Given the description of an element on the screen output the (x, y) to click on. 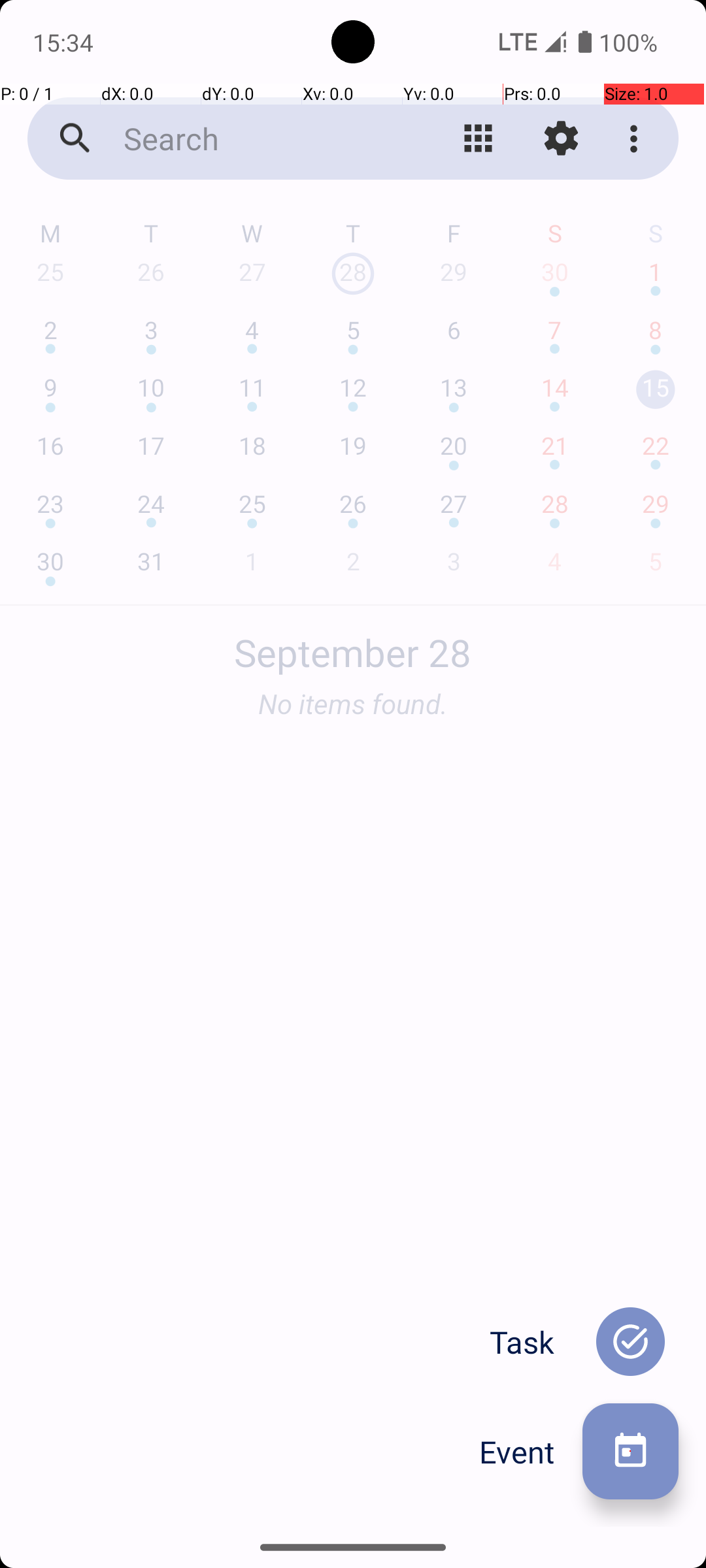
September 28 Element type: android.widget.TextView (352, 644)
